Given the description of an element on the screen output the (x, y) to click on. 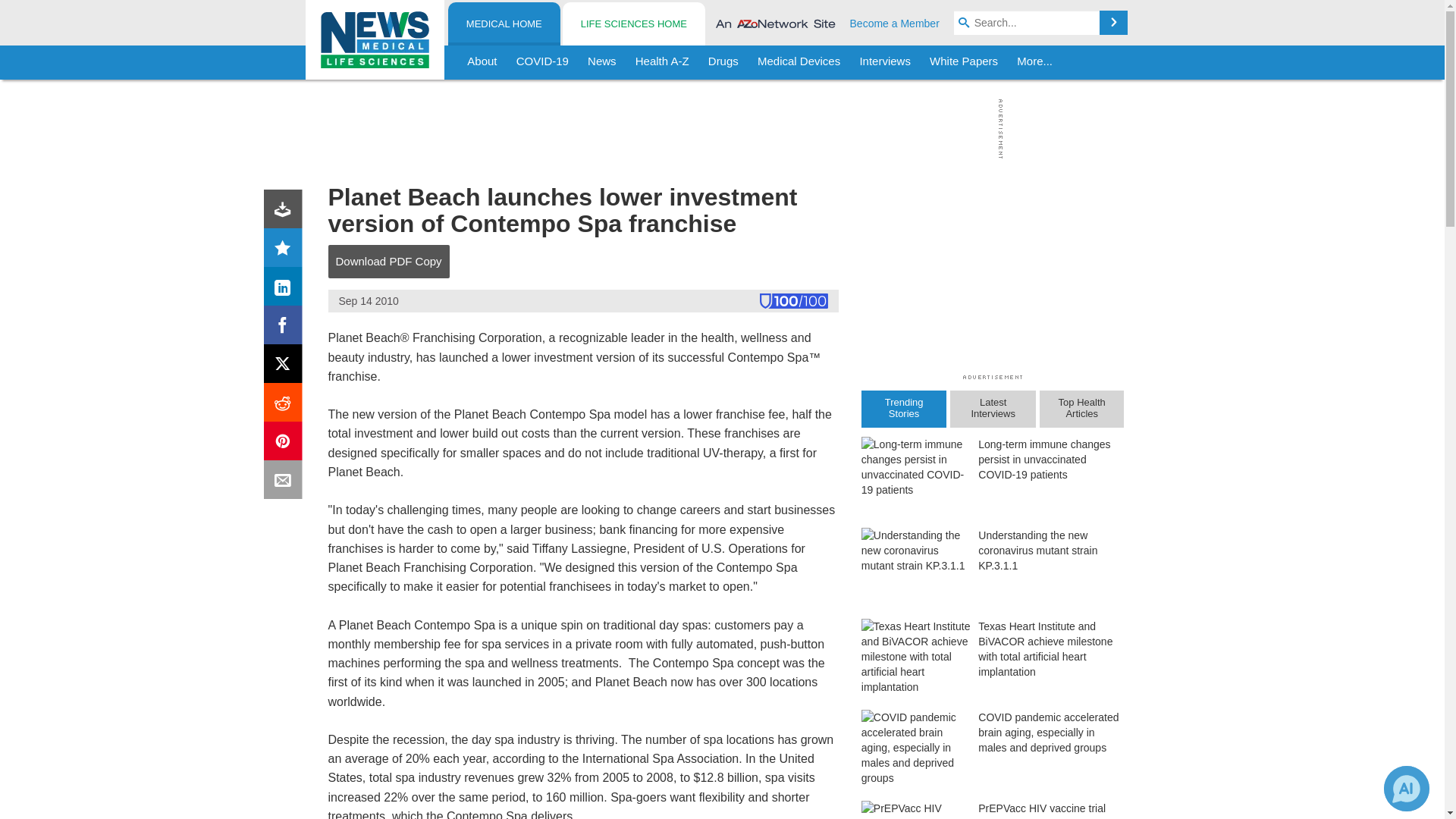
COVID-19 (542, 62)
Reddit (285, 405)
News (601, 62)
MEDICAL HOME (504, 23)
Health A-Z (662, 62)
Facebook (285, 328)
Interviews (884, 62)
LIFE SCIENCES HOME (633, 23)
Drugs (722, 62)
Medical Devices (798, 62)
White Papers (963, 62)
Rating (285, 250)
More... (1035, 62)
About (482, 62)
